Given the description of an element on the screen output the (x, y) to click on. 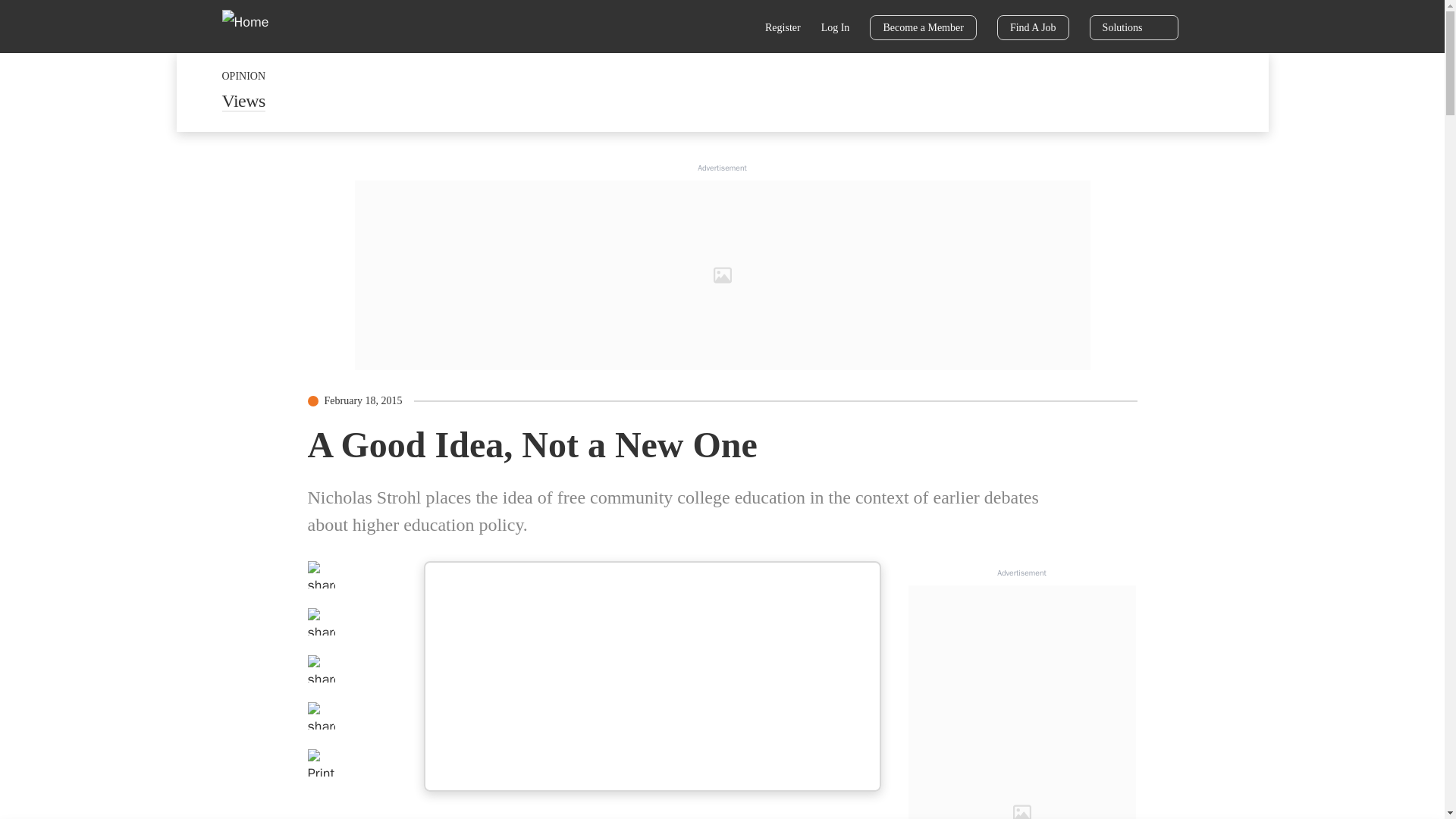
share by email (320, 715)
share to twitter (320, 621)
share to Linkedin (320, 668)
share to facebook (320, 574)
Find A Job (1032, 27)
Become a Member (922, 27)
Search (736, 28)
Home (255, 26)
